Given the description of an element on the screen output the (x, y) to click on. 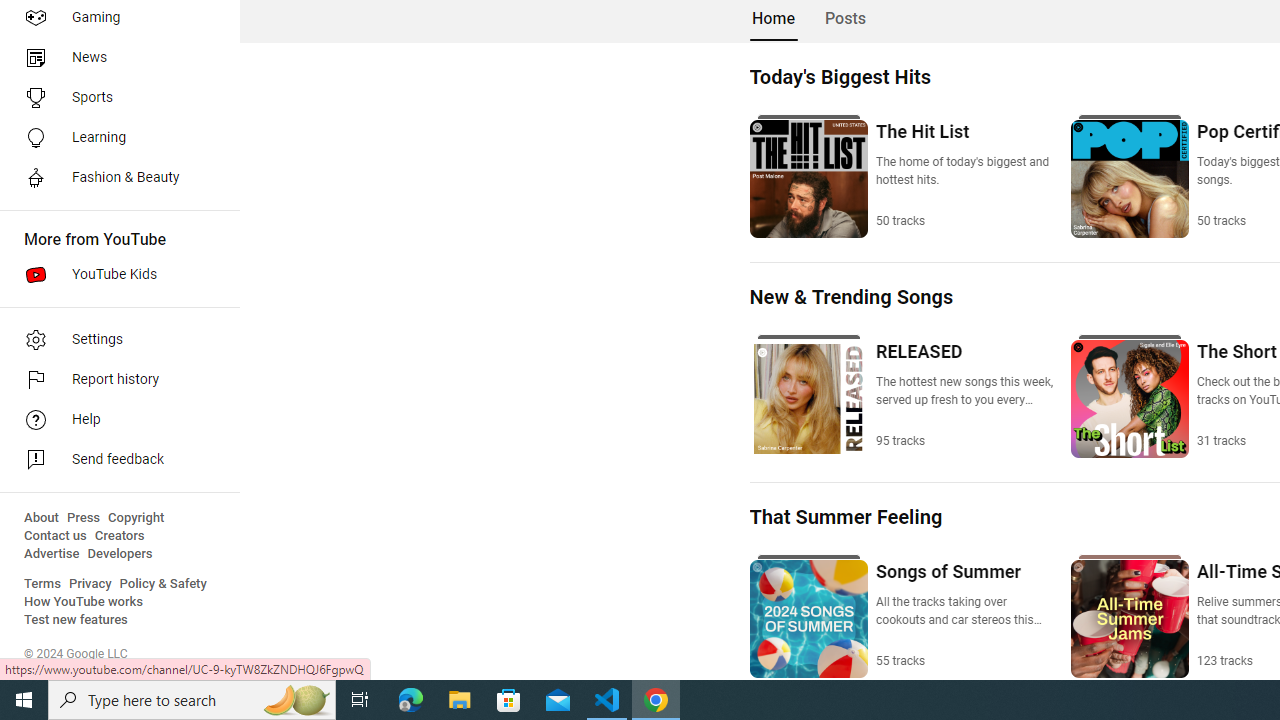
Sports (113, 97)
New & Trending Songs (850, 296)
News (113, 57)
That Summer Feeling (845, 517)
Advertise (51, 554)
About (41, 518)
Settings (113, 339)
Send feedback (113, 459)
Terms (42, 584)
How YouTube works (83, 602)
Contact us (55, 536)
